Given the description of an element on the screen output the (x, y) to click on. 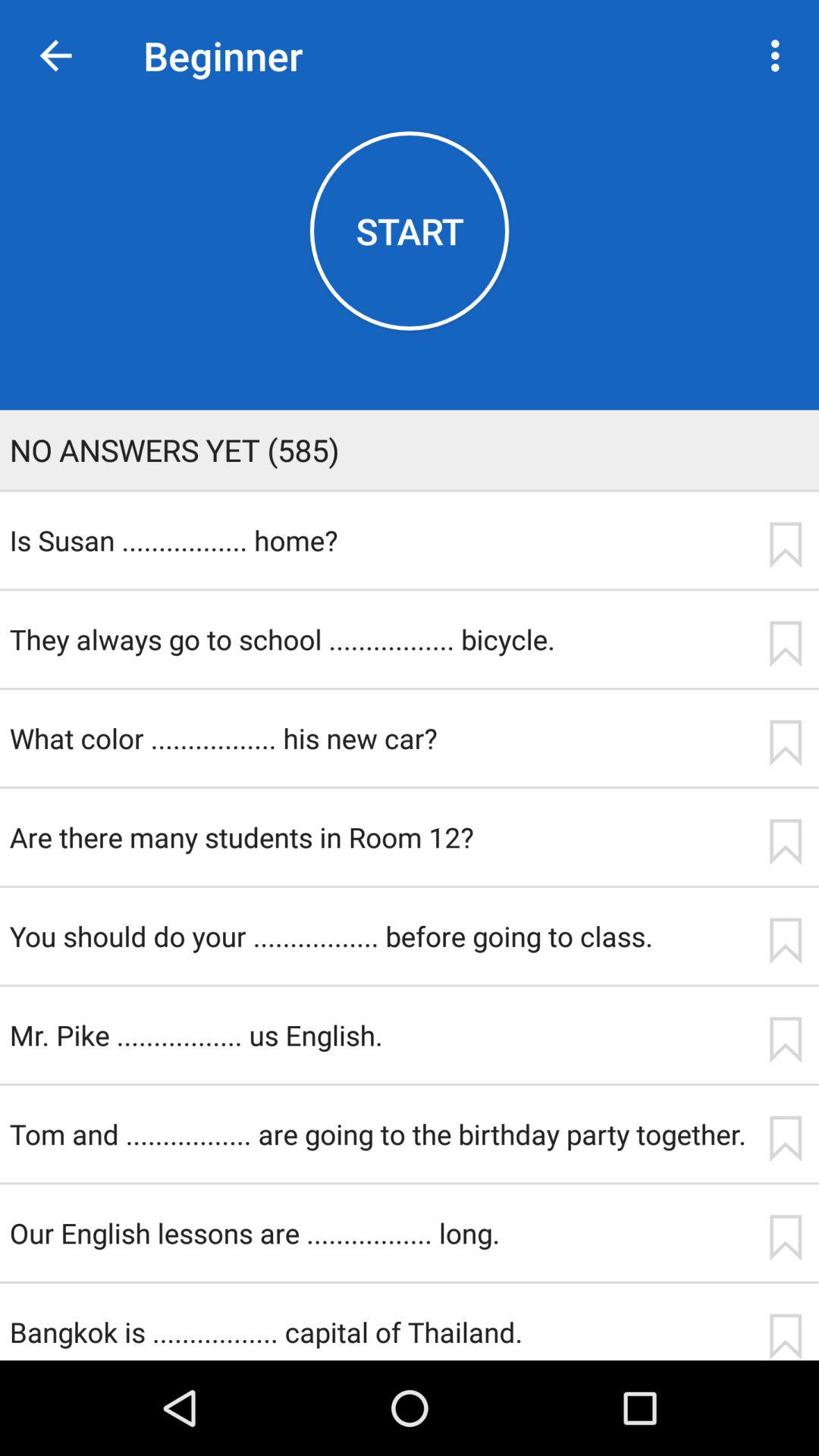
bookmark question (784, 1237)
